Given the description of an element on the screen output the (x, y) to click on. 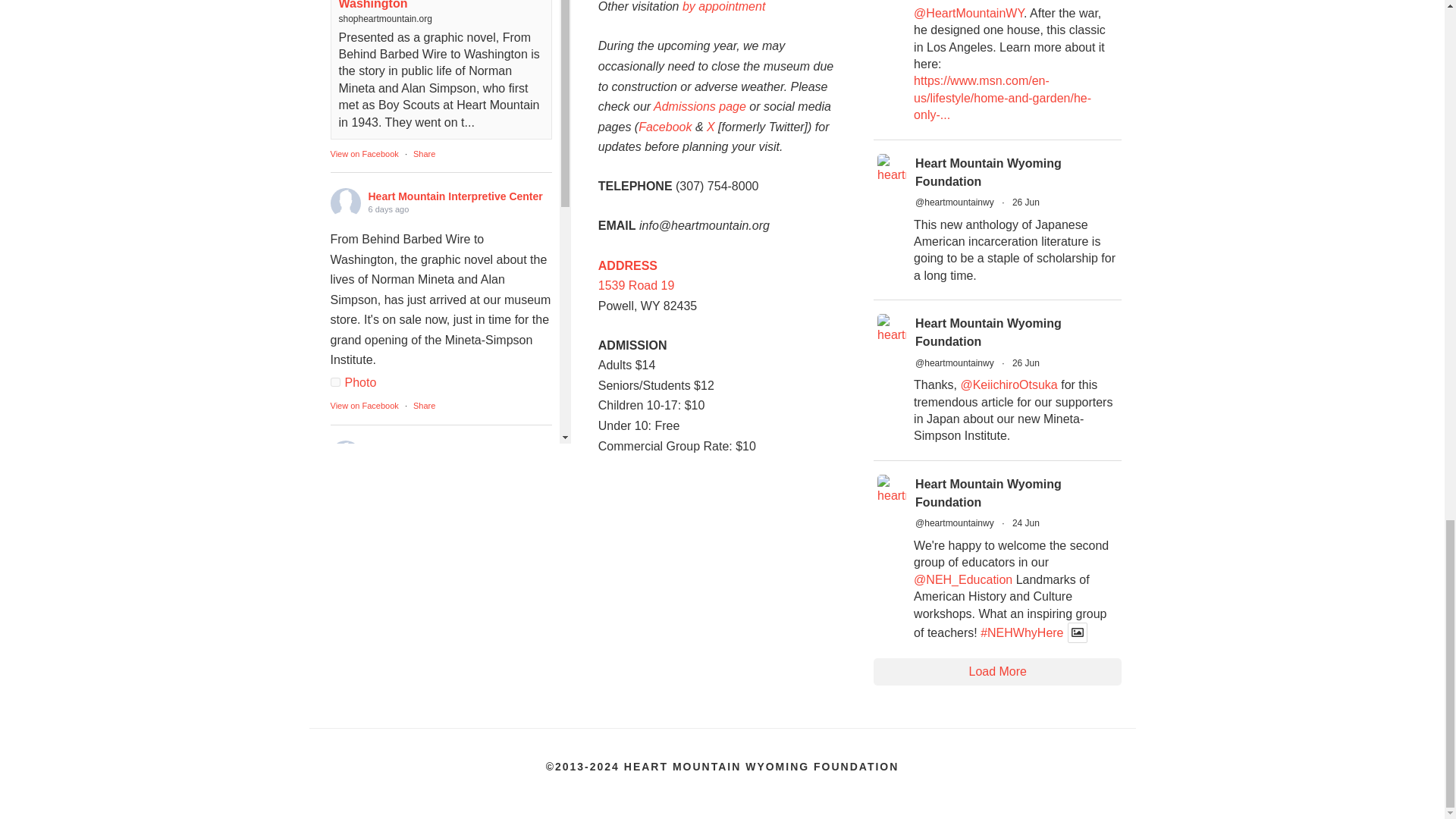
Share (424, 800)
View on Facebook (364, 153)
Share (424, 153)
View on Facebook (364, 800)
View on Facebook (364, 405)
Share (424, 405)
